Given the description of an element on the screen output the (x, y) to click on. 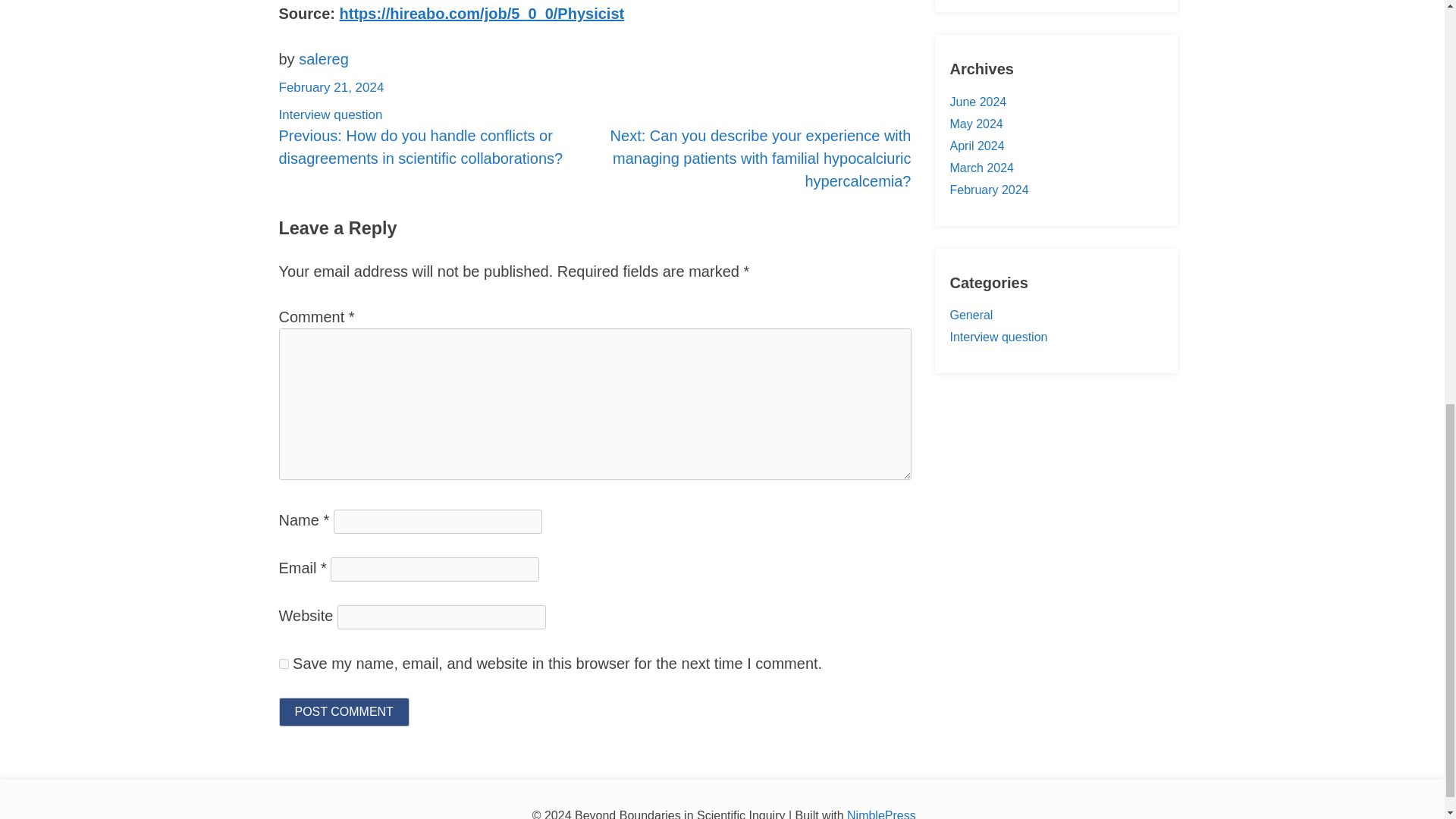
salereg (323, 58)
June 2024 (977, 101)
March 2024 (981, 167)
yes (283, 663)
February 2024 (988, 189)
General (970, 314)
April 2024 (976, 145)
Interview question (997, 336)
Interview question (330, 114)
